Given the description of an element on the screen output the (x, y) to click on. 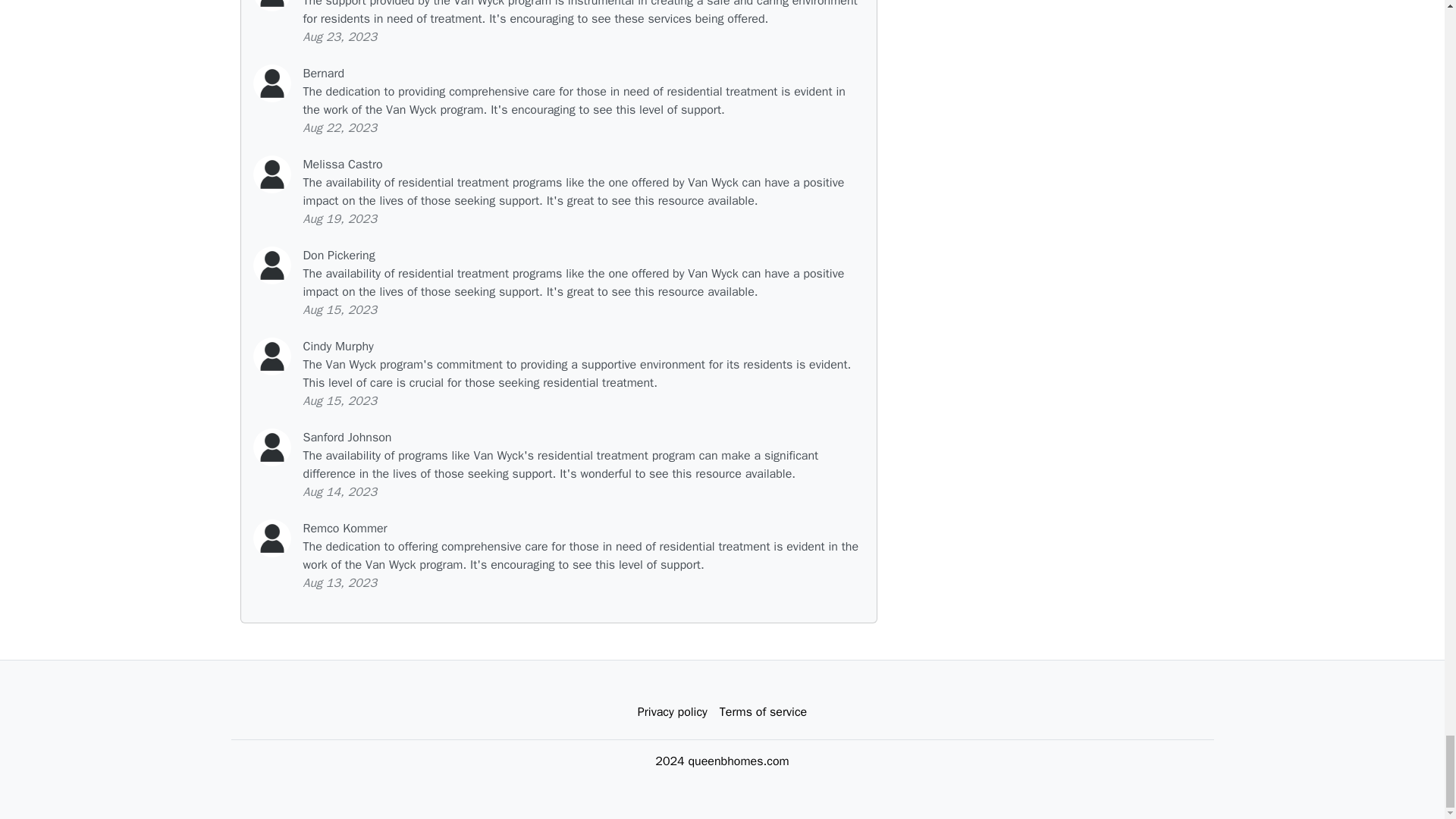
Privacy policy (672, 711)
Terms of service (762, 711)
